Given the description of an element on the screen output the (x, y) to click on. 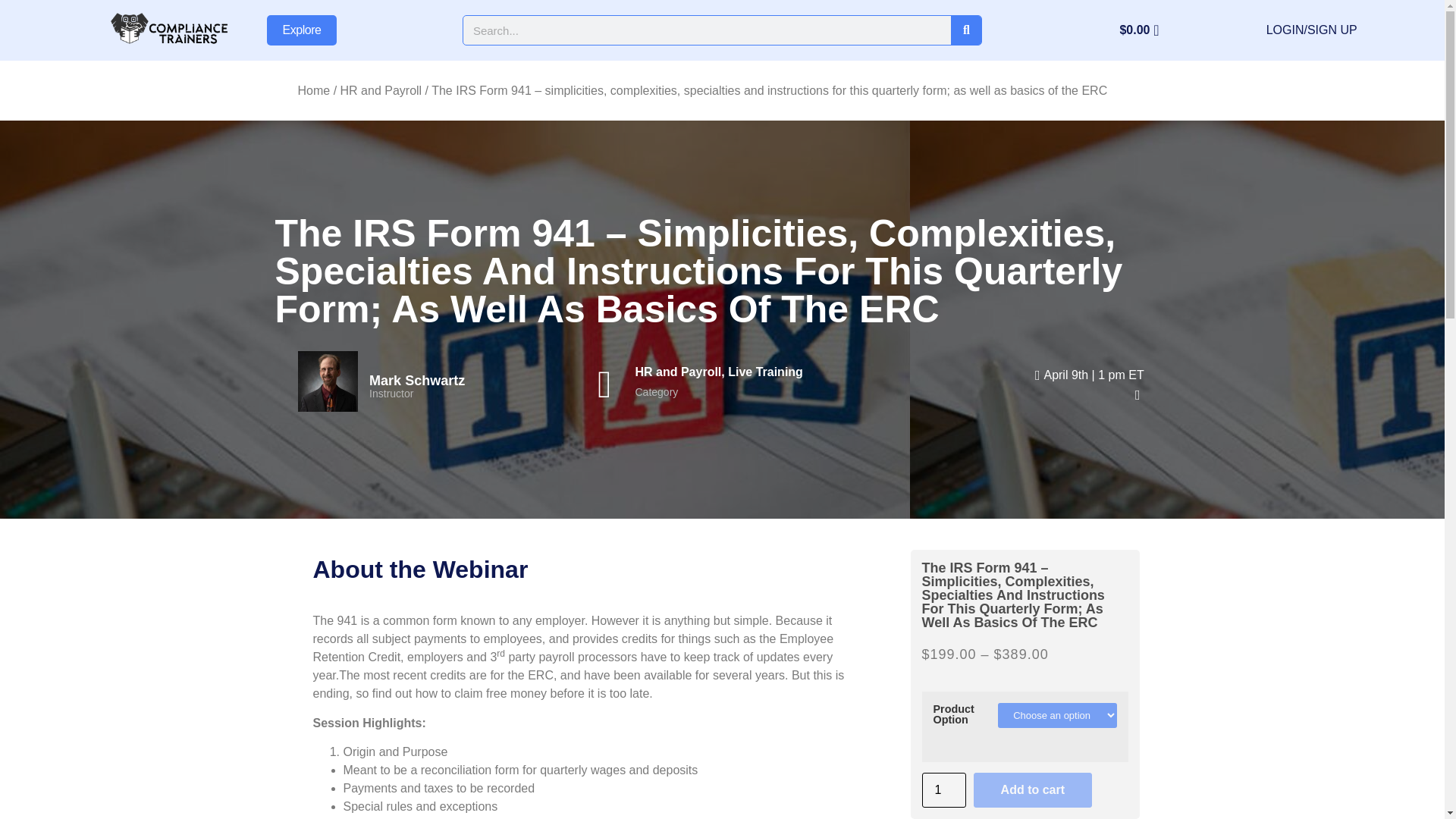
HR and Payroll (381, 90)
Home (313, 90)
1 (943, 790)
Explore (302, 30)
